Given the description of an element on the screen output the (x, y) to click on. 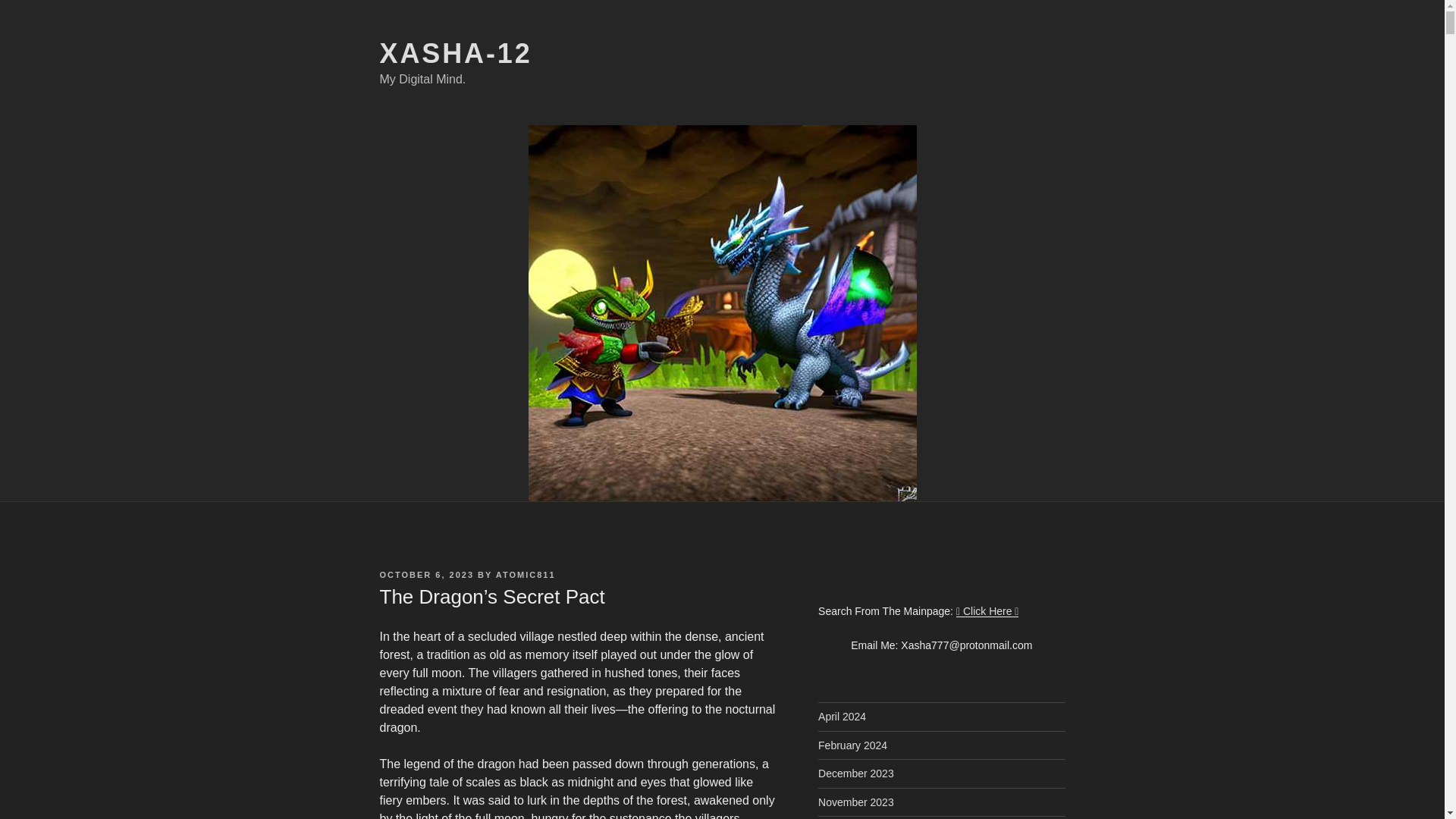
ATOMIC811 (526, 574)
XASHA-12 (454, 52)
OCTOBER 6, 2023 (426, 574)
